Given the description of an element on the screen output the (x, y) to click on. 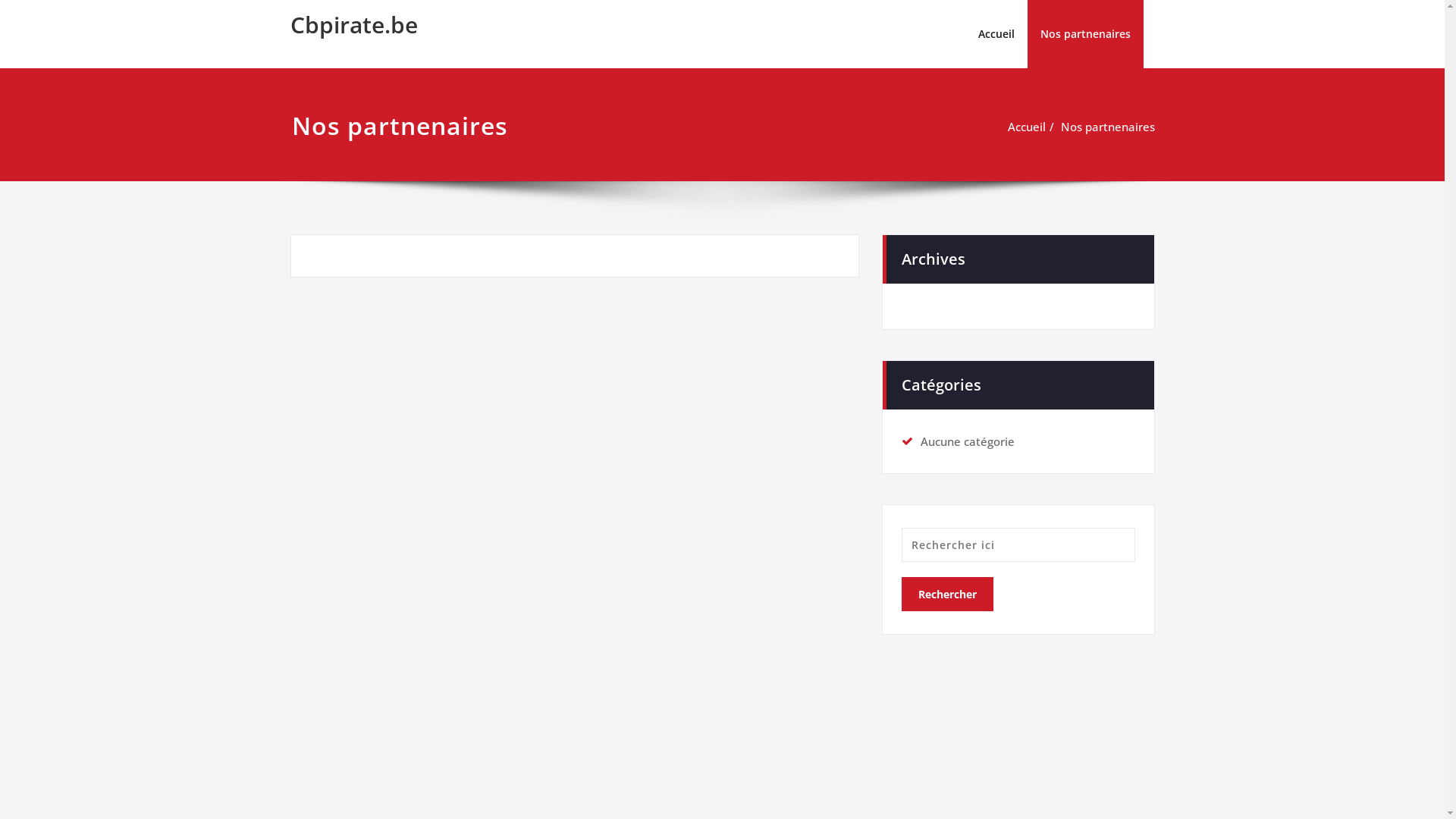
Accueil Element type: text (995, 34)
Nos partnenaires Element type: text (1084, 34)
Rechercher Element type: text (946, 594)
Nos partnenaires Element type: text (1107, 126)
Cbpirate.be Element type: text (353, 24)
Accueil Element type: text (1025, 126)
Skip to content Element type: text (0, 0)
